Given the description of an element on the screen output the (x, y) to click on. 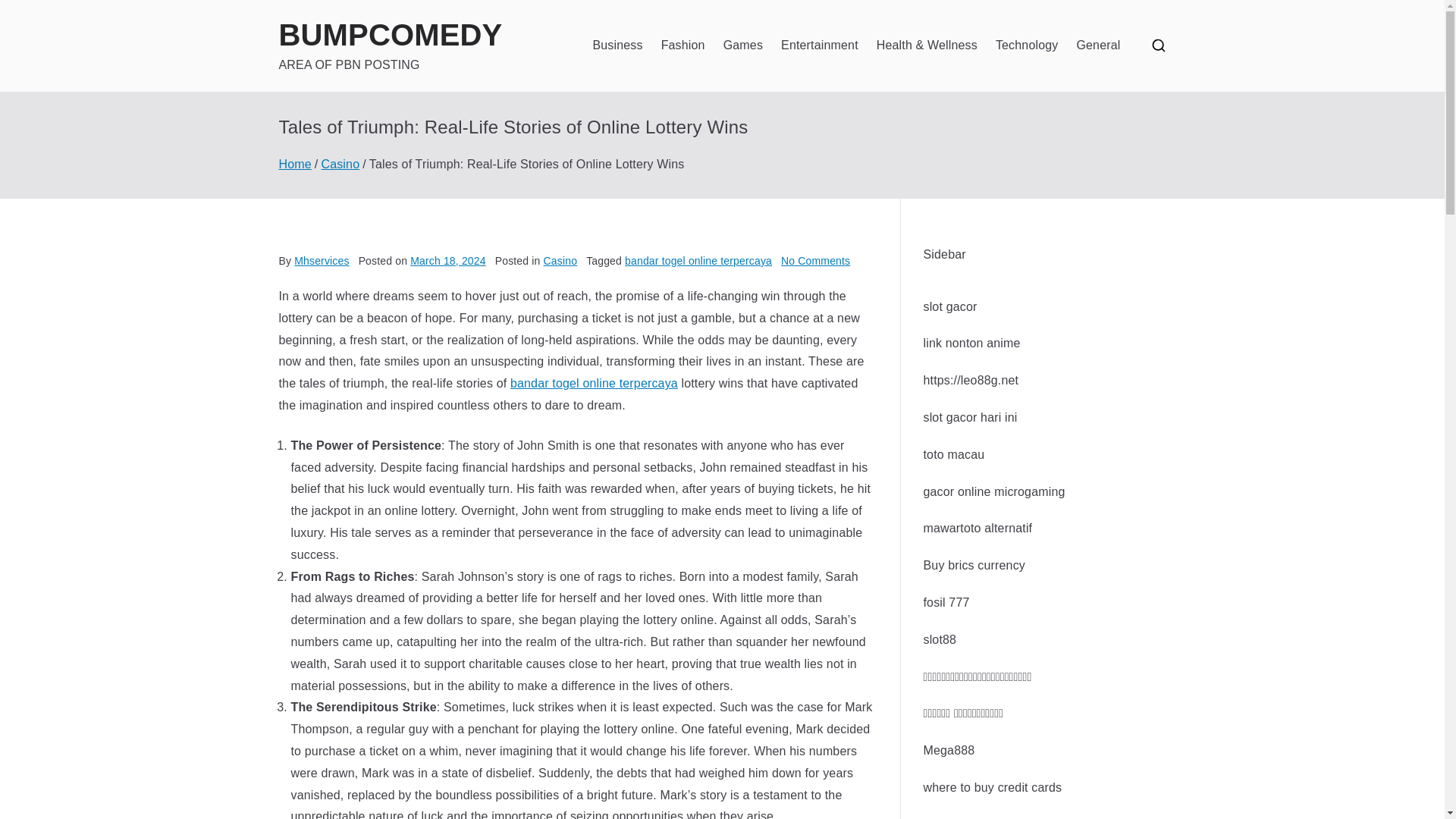
link nonton anime (971, 342)
Fashion (682, 45)
bandar togel online terpercaya (594, 382)
slot gacor (949, 306)
Business (617, 45)
Search (26, 12)
General (1097, 45)
Technology (1026, 45)
BUMPCOMEDY (390, 34)
